Given the description of an element on the screen output the (x, y) to click on. 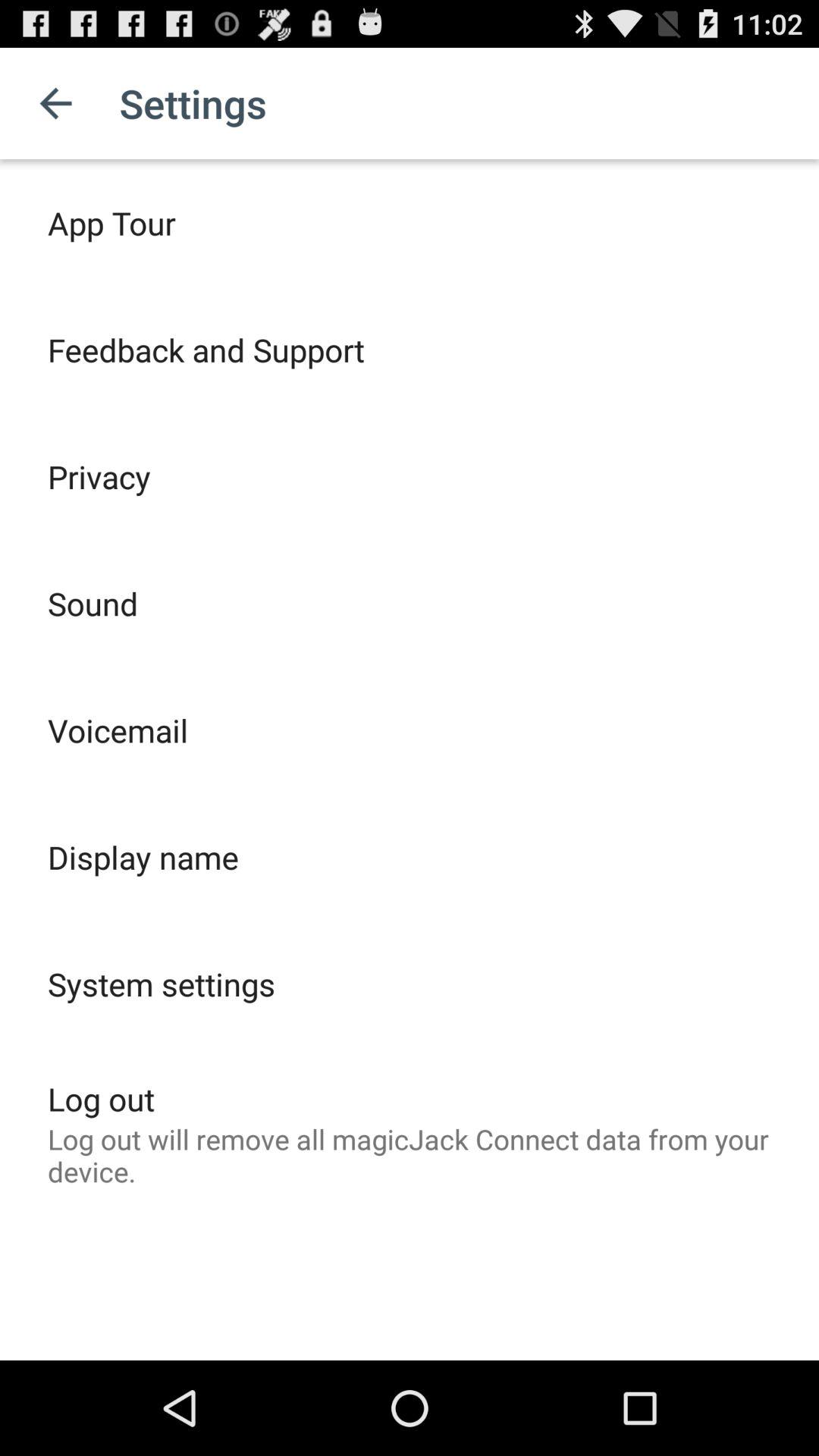
launch the item above the display name (117, 729)
